Given the description of an element on the screen output the (x, y) to click on. 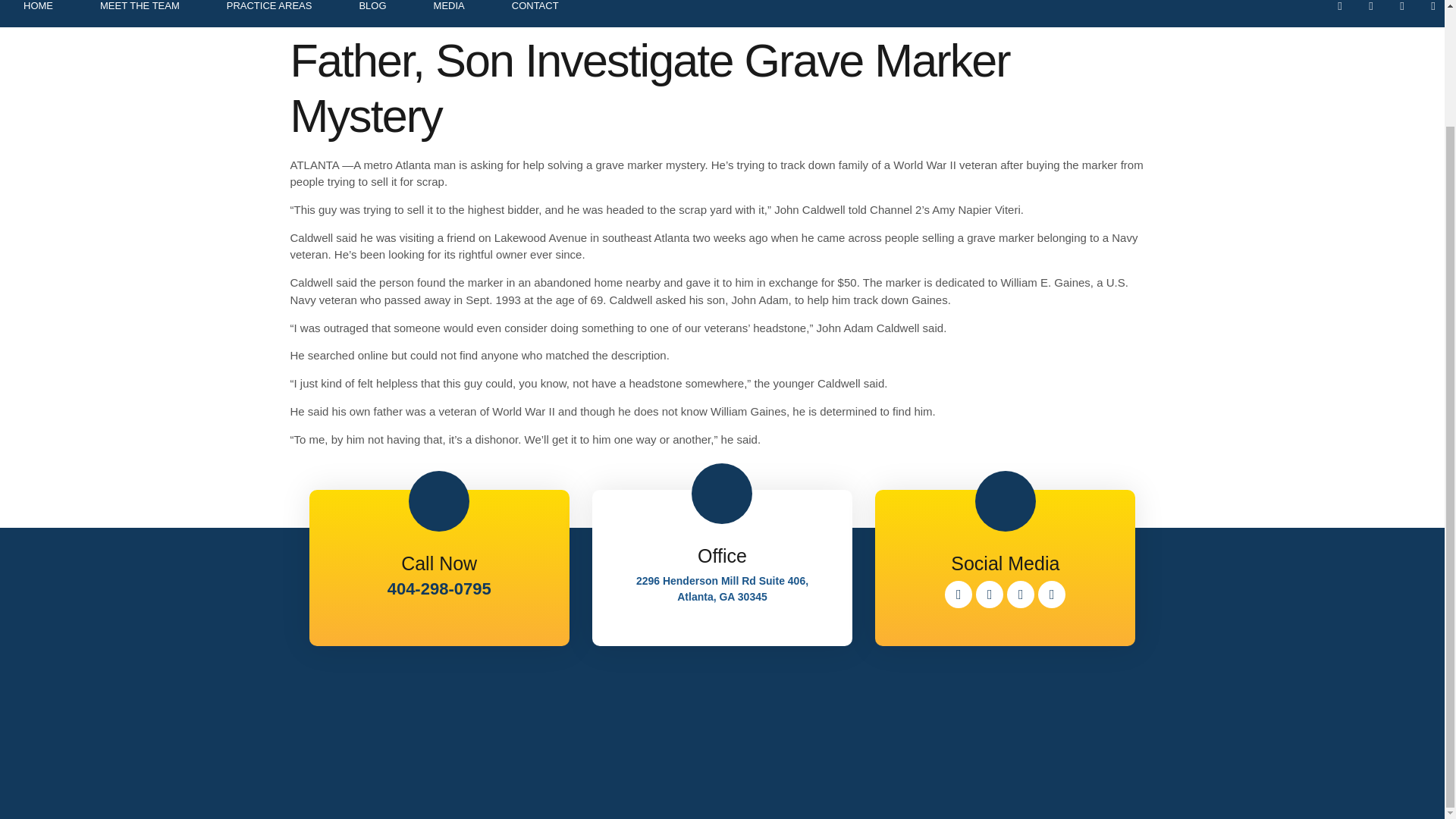
MEET THE TEAM (140, 13)
MEDIA (448, 13)
CONTACT (534, 13)
PRACTICE AREAS (269, 13)
HOME (38, 13)
BLOG (371, 13)
